Given the description of an element on the screen output the (x, y) to click on. 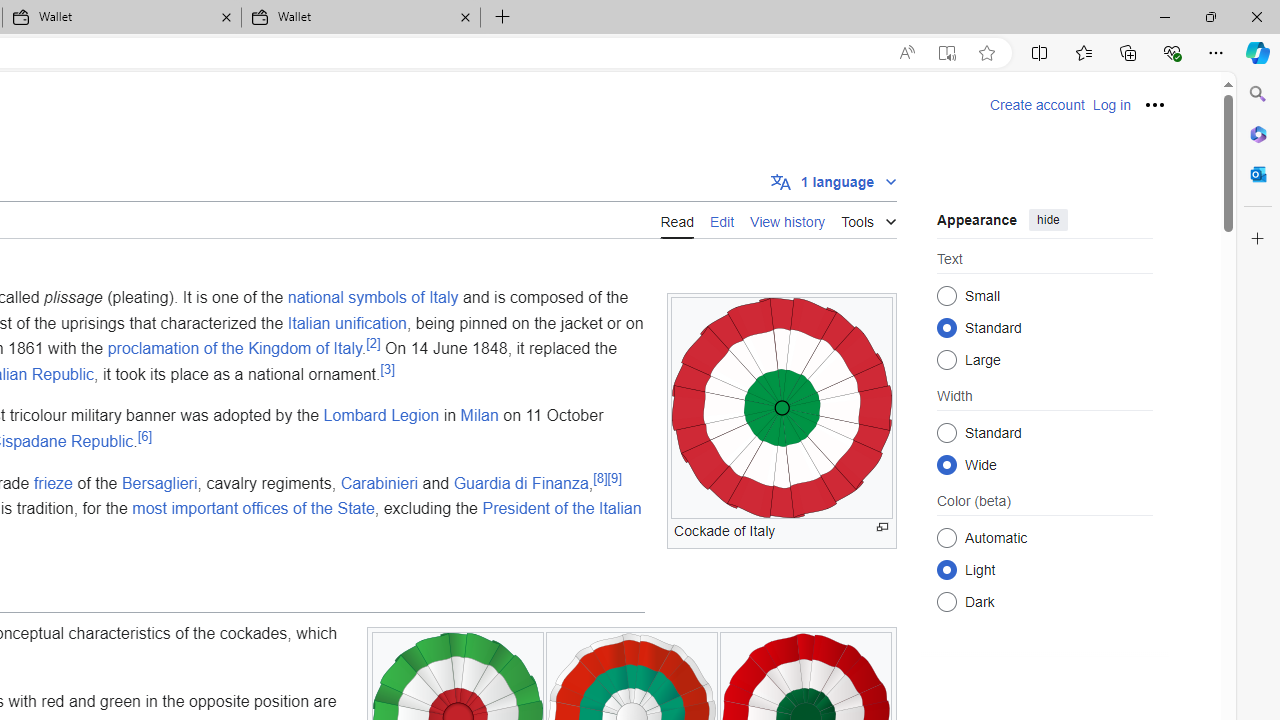
Edit (721, 219)
Class: mw-list-item mw-list-item-js (1044, 569)
national symbols of Italy (372, 297)
[2] (373, 342)
Dark (946, 601)
Standard (946, 431)
Lombard Legion (381, 415)
Guardia di Finanza (520, 482)
Automatic (946, 537)
